Given the description of an element on the screen output the (x, y) to click on. 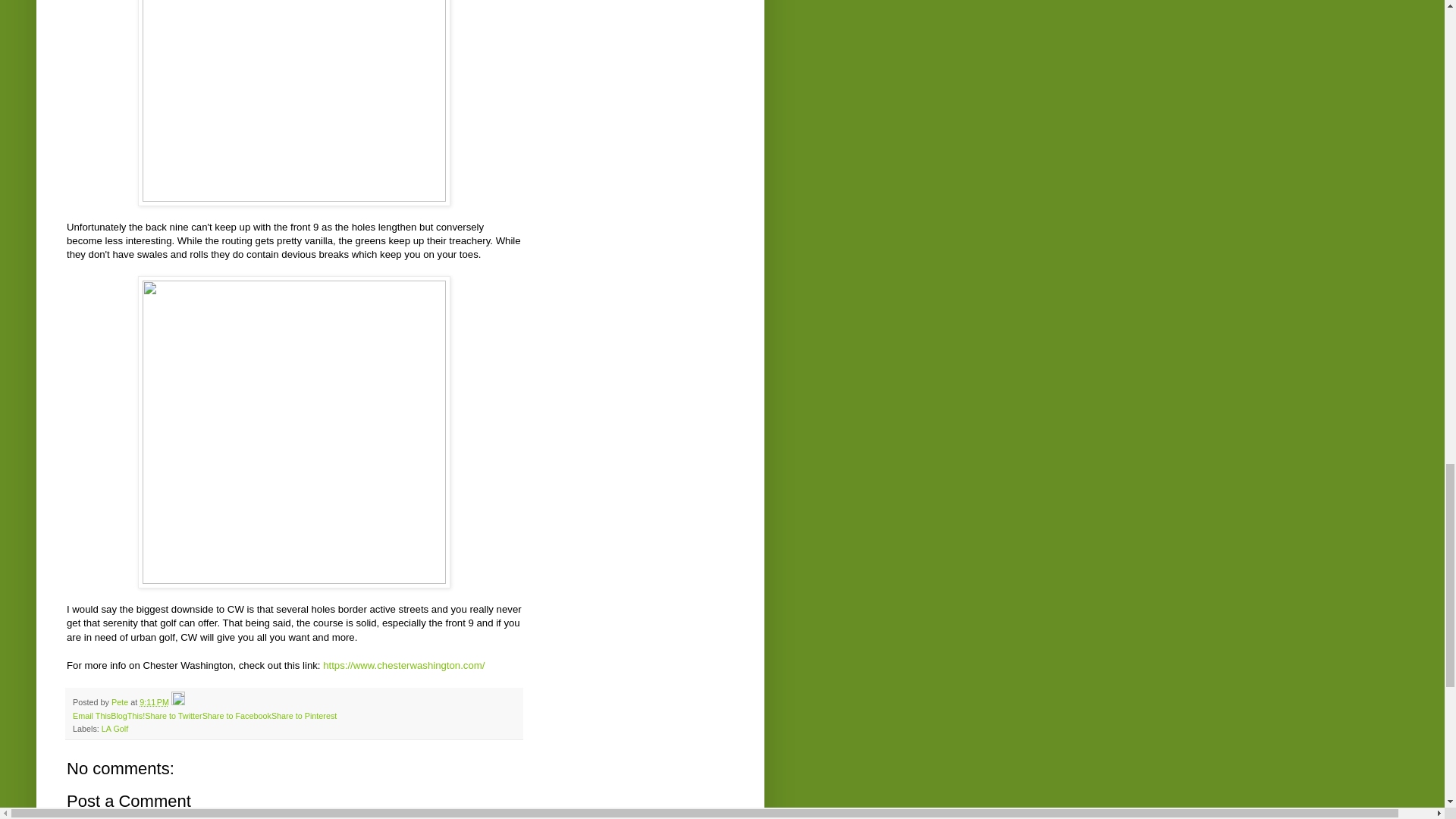
Share to Twitter (173, 715)
LA Golf (114, 728)
Pete (121, 701)
Share to Facebook (236, 715)
author profile (121, 701)
Share to Pinterest (303, 715)
permanent link (153, 701)
Email This (91, 715)
Share to Twitter (173, 715)
Share to Pinterest (303, 715)
Email This (91, 715)
BlogThis! (127, 715)
BlogThis! (127, 715)
Share to Facebook (236, 715)
